Given the description of an element on the screen output the (x, y) to click on. 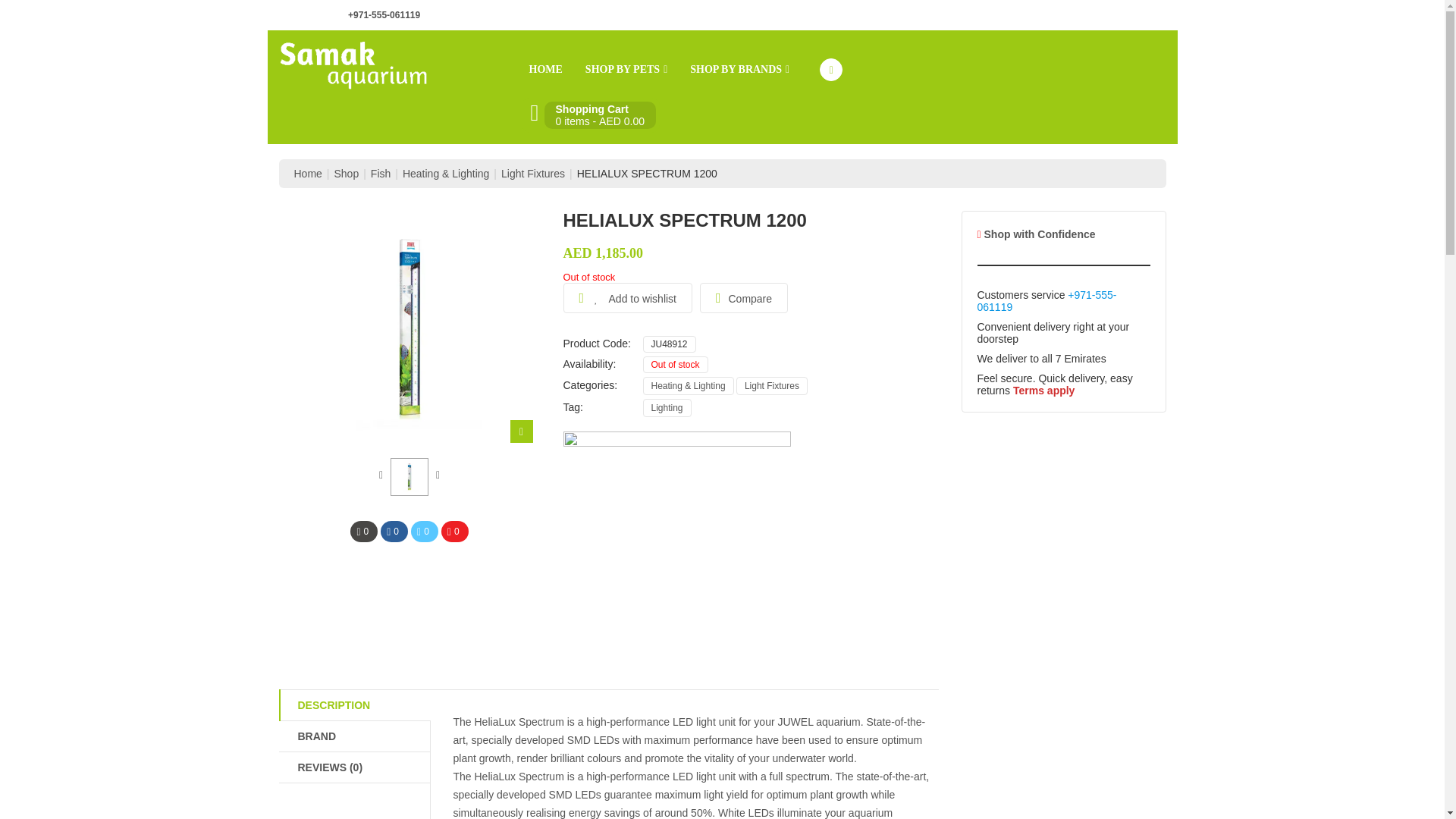
Juwel (676, 545)
HOME (544, 69)
ABOUT US (927, 14)
CUSTOMER SERVICES (1104, 14)
CONTACT US (1001, 14)
My Account (831, 69)
7-4.jpg (409, 476)
SHOP BY PETS (625, 69)
